Given the description of an element on the screen output the (x, y) to click on. 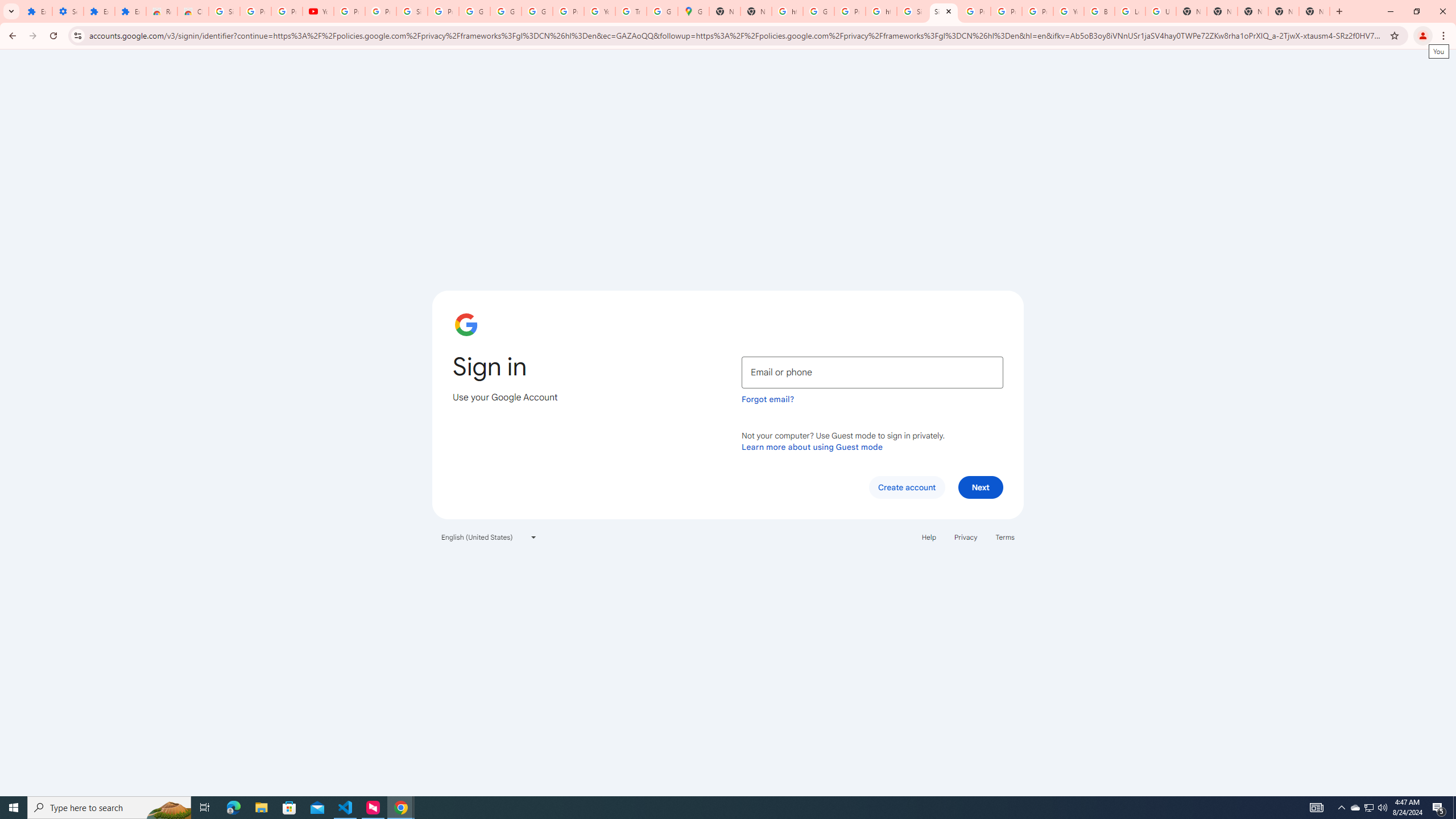
https://scholar.google.com/ (881, 11)
Extensions (130, 11)
Terms (1005, 536)
Sign in - Google Accounts (411, 11)
Learn more about using Guest mode (812, 446)
Google Account (474, 11)
Google Account (505, 11)
Privacy Help Center - Policies Help (974, 11)
Forgot email? (767, 398)
